Given the description of an element on the screen output the (x, y) to click on. 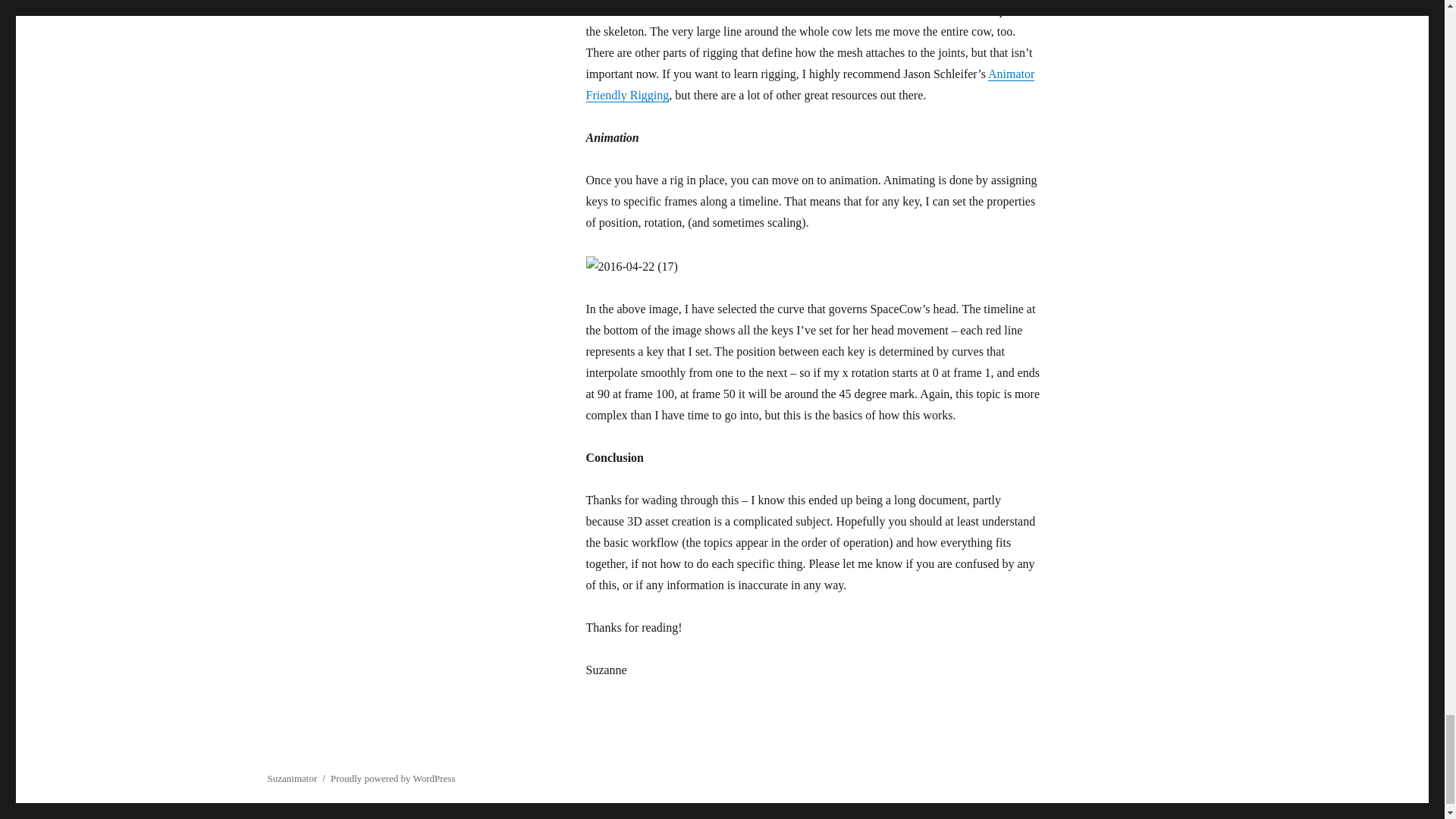
Suzanimator (291, 778)
Animator Friendly Rigging (809, 84)
Proudly powered by WordPress (392, 778)
